Given the description of an element on the screen output the (x, y) to click on. 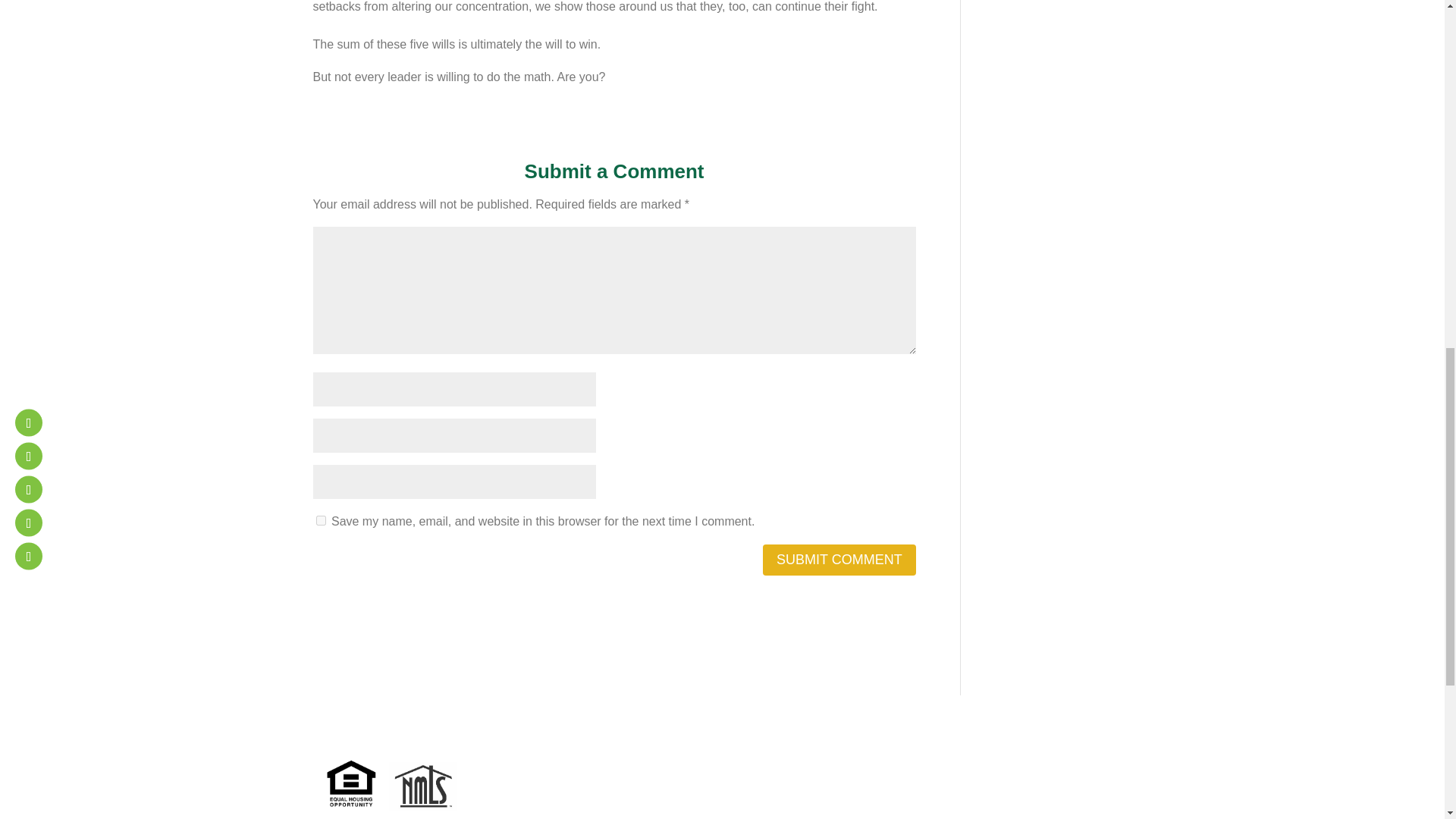
Submit Comment (838, 559)
yes (319, 520)
